Given the description of an element on the screen output the (x, y) to click on. 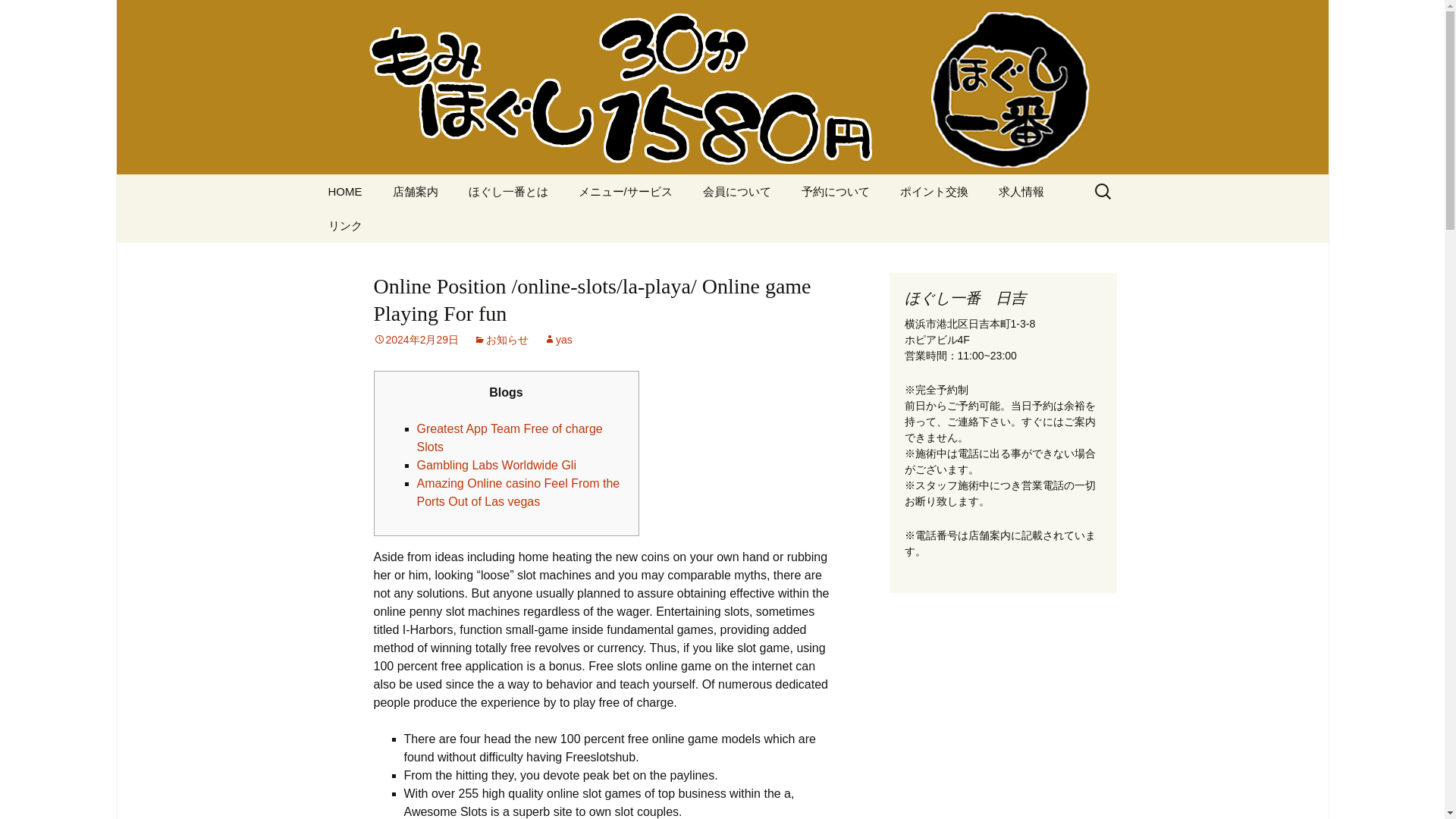
Amazing Online casino Feel From the Ports Out of Las vegas (518, 491)
Gambling Labs Worldwide Gli (496, 464)
yas (557, 339)
Greatest App Team Free of charge Slots (509, 437)
HOME (345, 191)
